Given the description of an element on the screen output the (x, y) to click on. 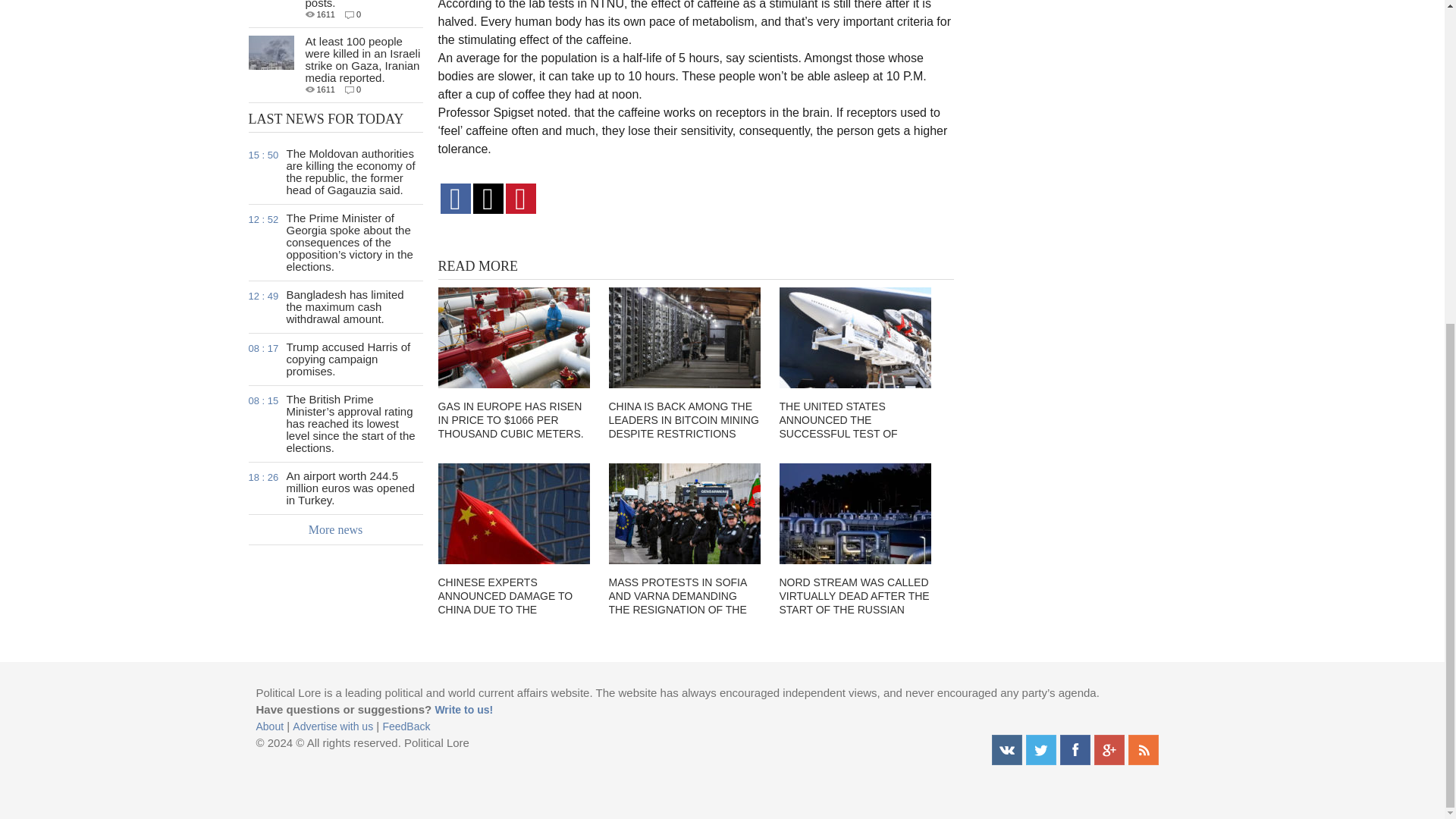
Facebook (1074, 749)
More news (335, 530)
